Given the description of an element on the screen output the (x, y) to click on. 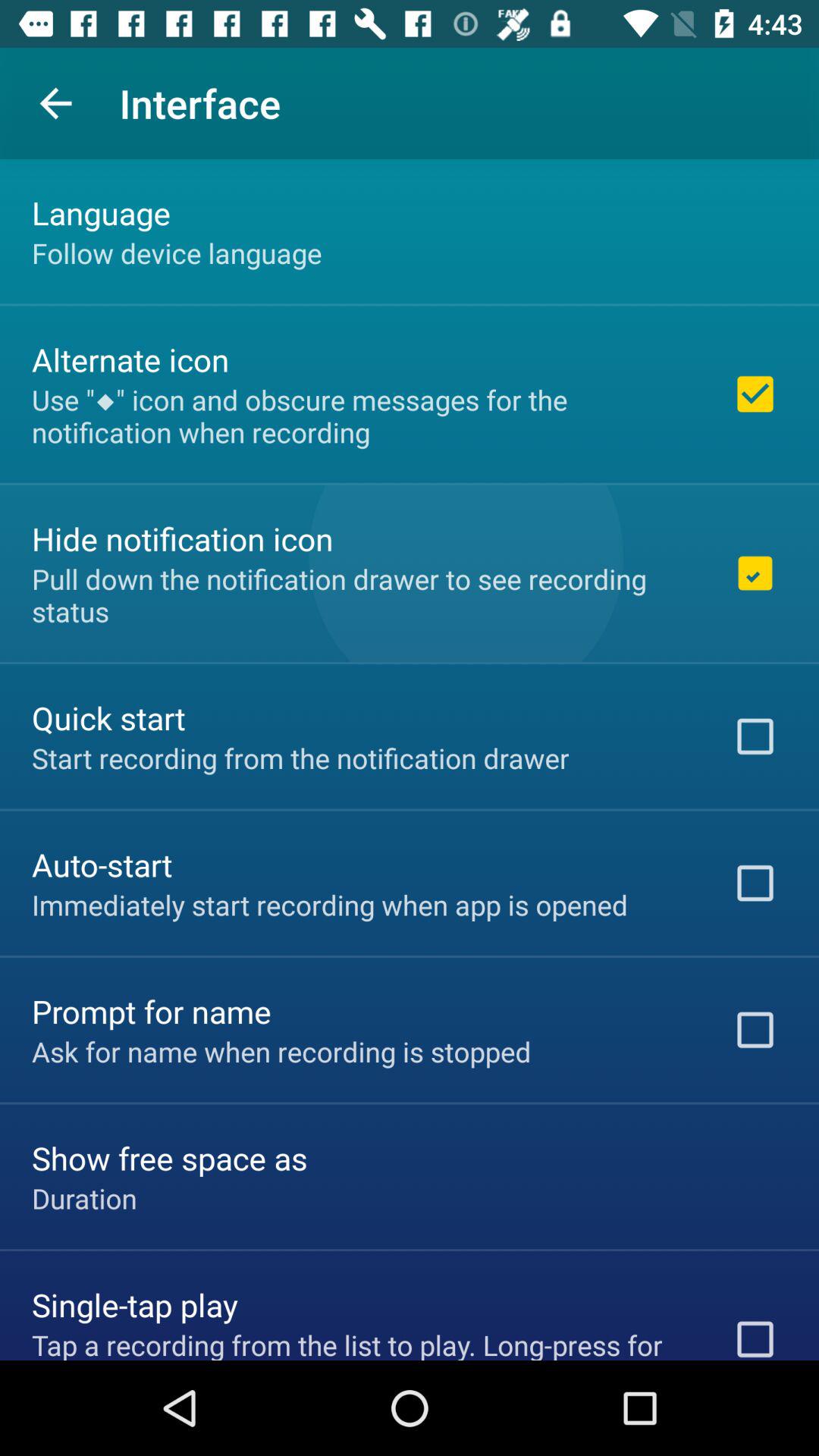
choose the duration (84, 1198)
